Given the description of an element on the screen output the (x, y) to click on. 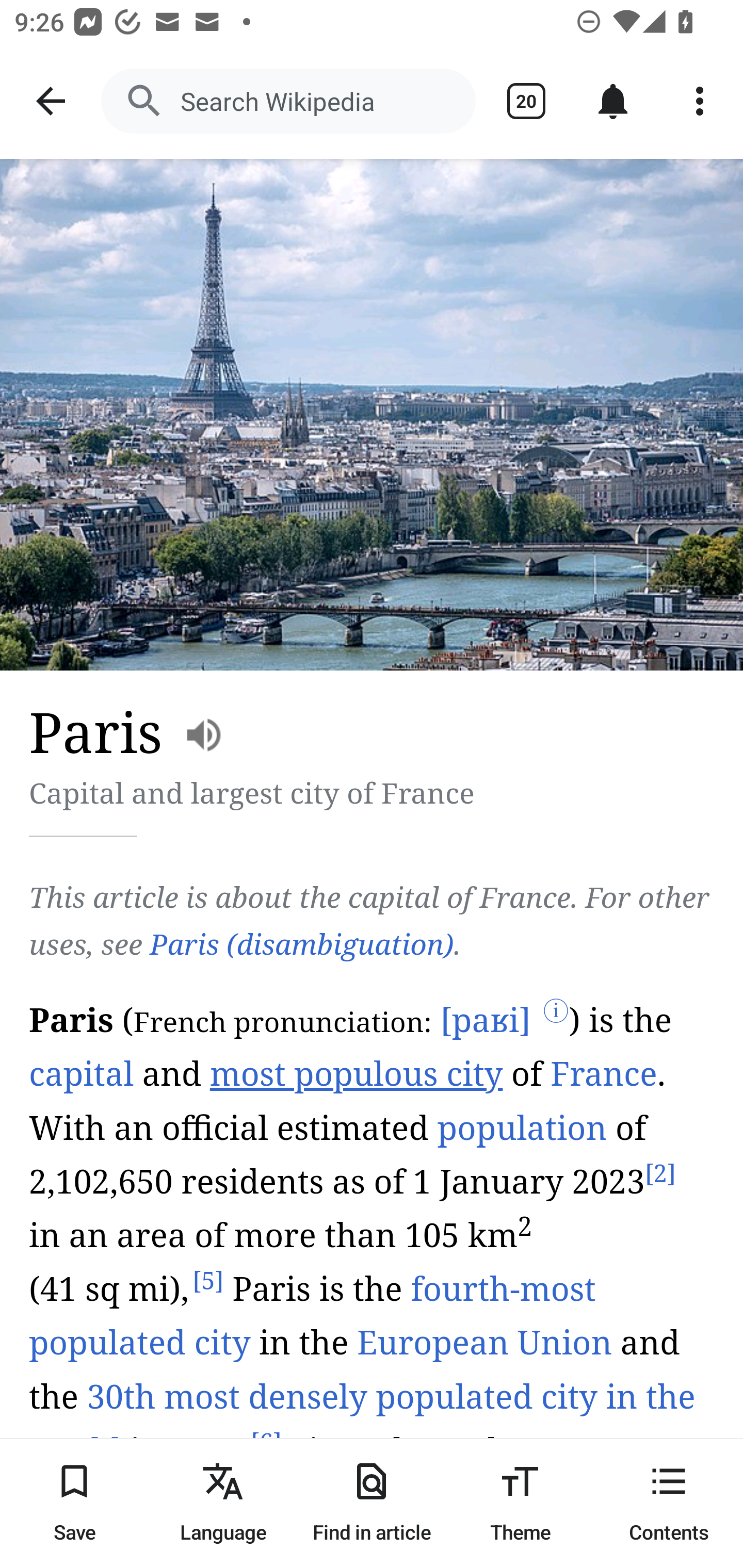
Show tabs 20 (525, 100)
Notifications (612, 100)
Navigate up (50, 101)
More options (699, 101)
Search Wikipedia (288, 100)
Image: Paris (371, 414)
Paris (disambiguation) (300, 944)
Play audio (372, 1280)
ⓘ (555, 1012)
[paʁi] [ paʁi ] (484, 1021)
capital (80, 1074)
most populous city (356, 1074)
France (604, 1074)
population (522, 1127)
[] [ 2 ] (659, 1174)
[] [ 5 ] (208, 1281)
fourth-most populated city (311, 1317)
European Union (484, 1343)
30th most densely populated city in the world (362, 1423)
Save (74, 1502)
Language (222, 1502)
Find in article (371, 1502)
Theme (519, 1502)
Contents (668, 1502)
